Given the description of an element on the screen output the (x, y) to click on. 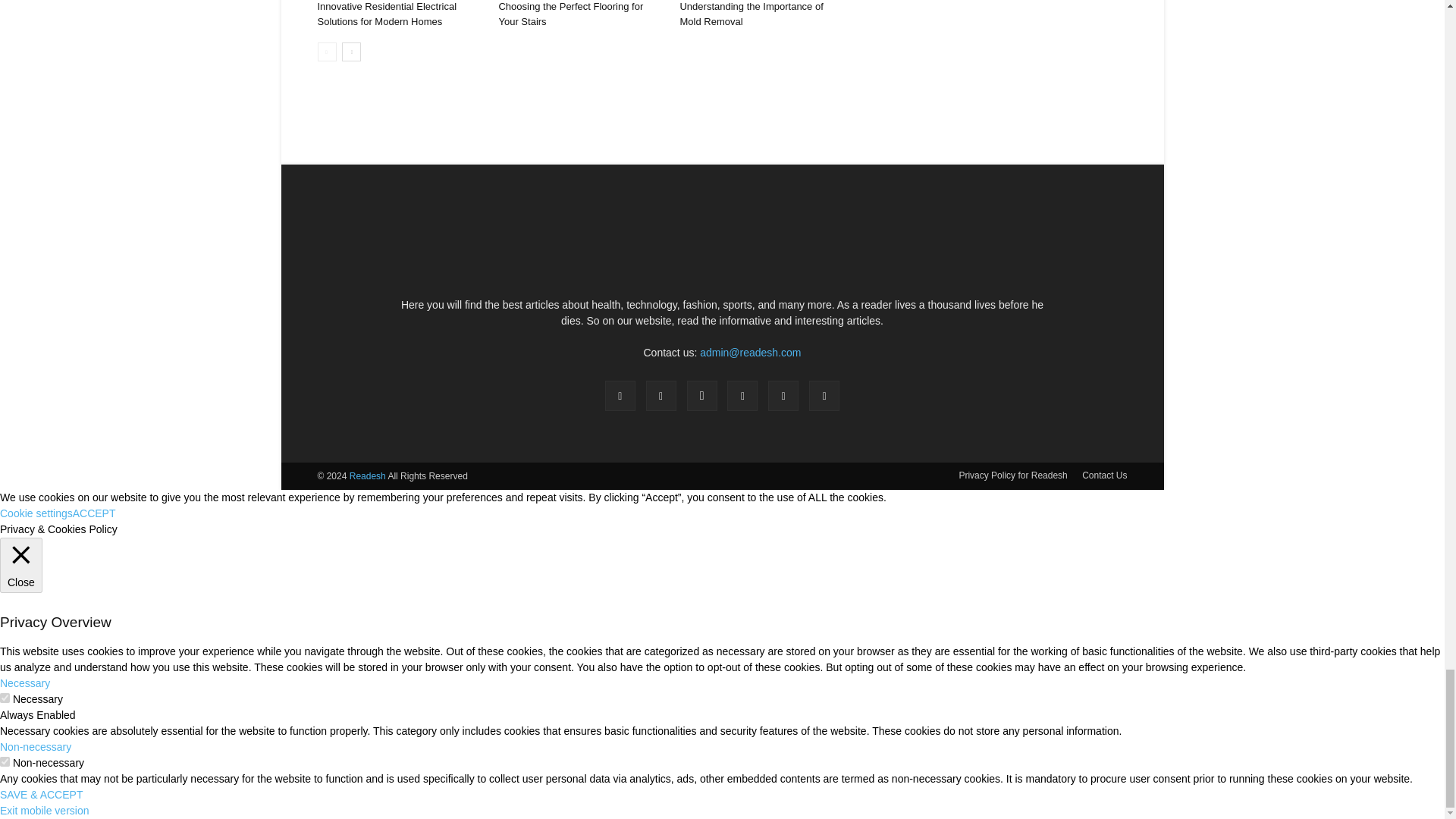
on (5, 761)
on (5, 697)
